Given the description of an element on the screen output the (x, y) to click on. 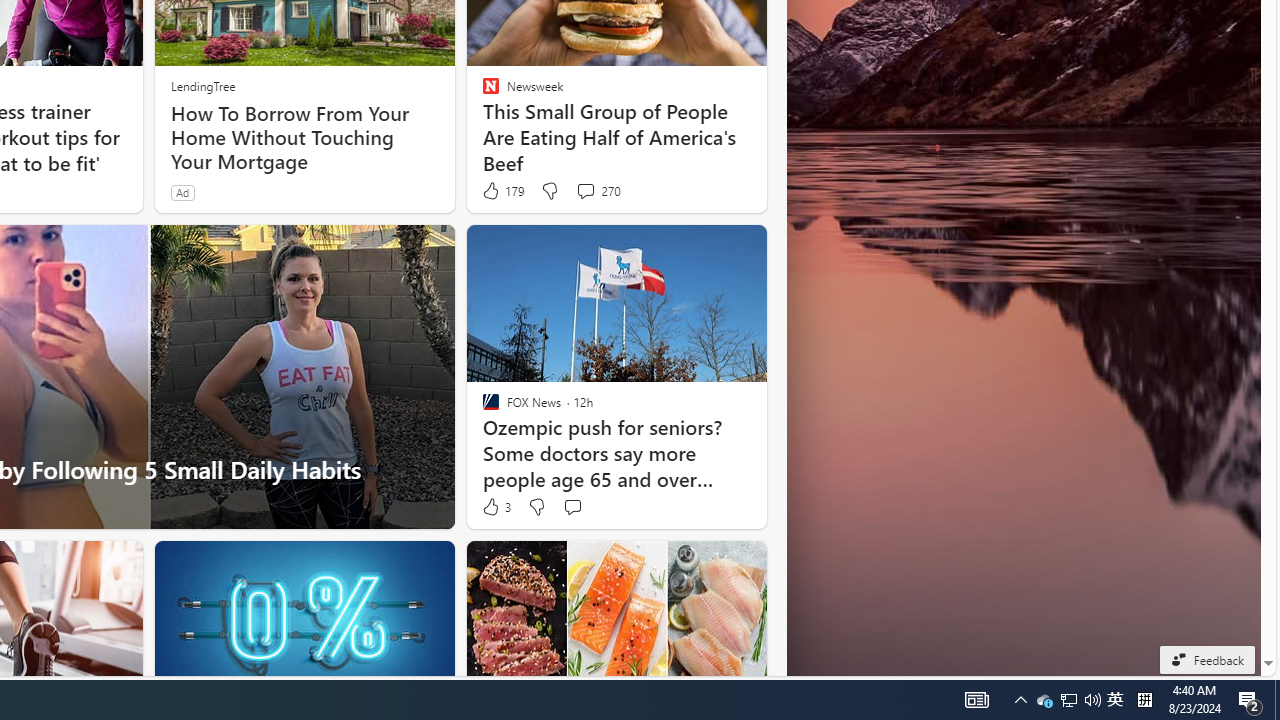
View comments 270 Comment (585, 190)
LendingTree (202, 85)
View comments 270 Comment (597, 191)
179 Like (502, 191)
3 Like (495, 507)
